Given the description of an element on the screen output the (x, y) to click on. 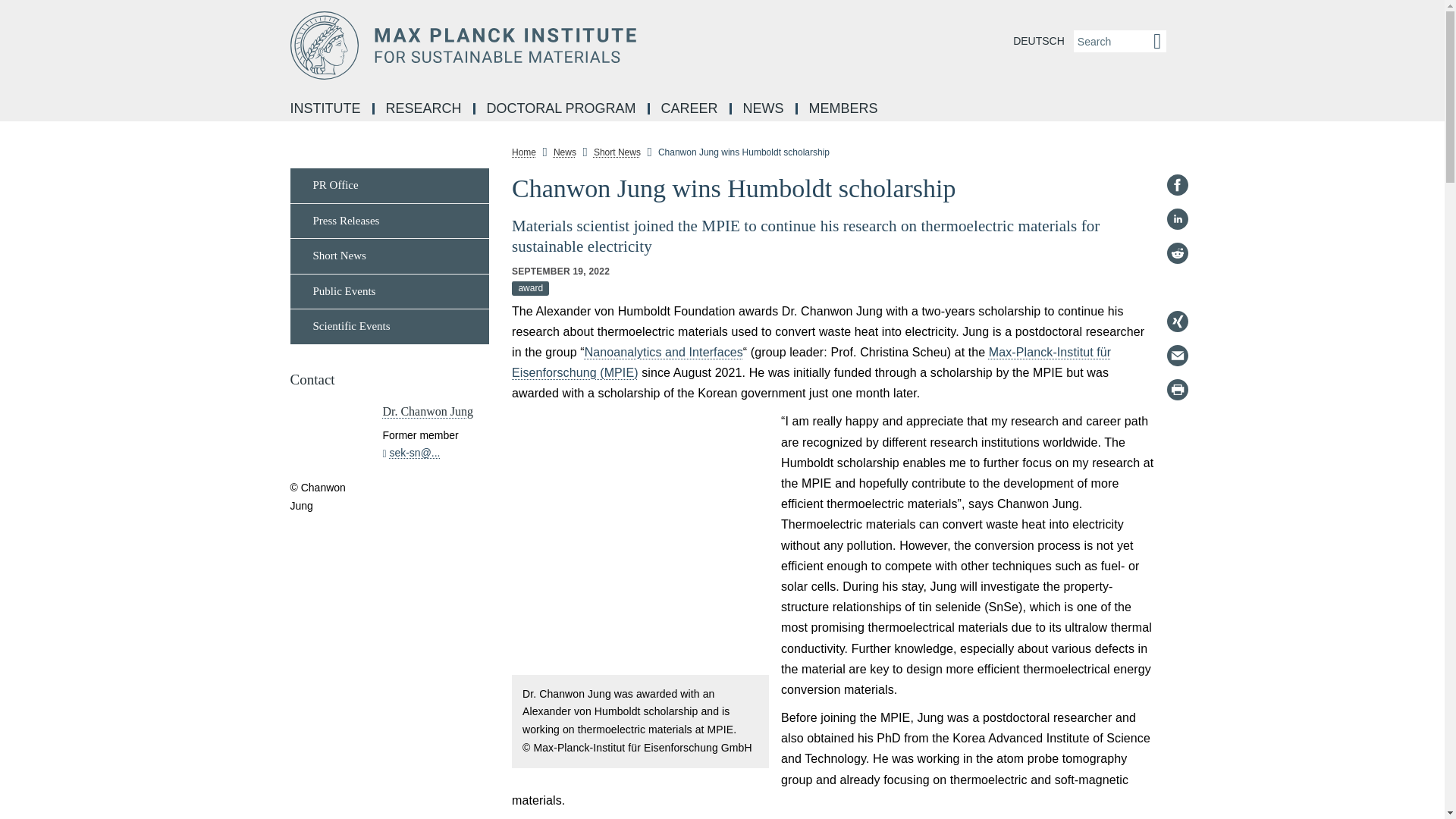
Reddit (1177, 252)
CAREER (690, 108)
More information about Dr. Chanwon Jung (427, 410)
INSTITUTE (326, 108)
opens zoom view (640, 542)
E-Mail (1177, 354)
DEUTSCH (1038, 41)
Facebook (1177, 184)
Print (1177, 389)
Xing (1177, 321)
